Given the description of an element on the screen output the (x, y) to click on. 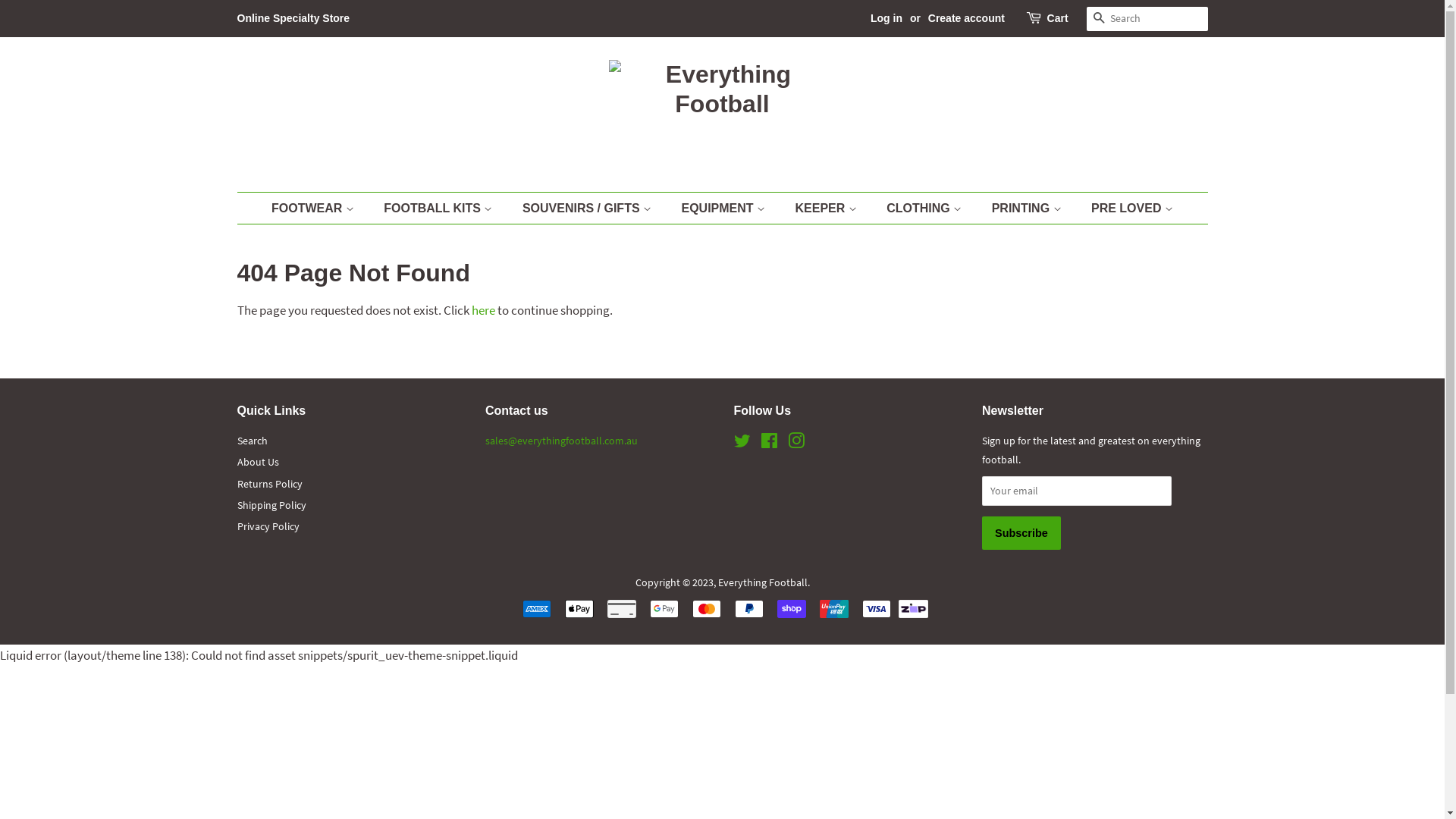
FOOTBALL KITS Element type: text (439, 207)
Facebook Element type: text (768, 443)
Cart Element type: text (1057, 18)
Create account Element type: text (966, 18)
Shipping Policy Element type: text (270, 504)
SOUVENIRS / GIFTS Element type: text (588, 207)
Search Element type: text (1097, 18)
FOOTWEAR Element type: text (320, 207)
KEEPER Element type: text (828, 207)
Log in Element type: text (886, 18)
CLOTHING Element type: text (925, 207)
here Element type: text (483, 309)
PRINTING Element type: text (1028, 207)
Returns Policy Element type: text (268, 483)
Instagram Element type: text (795, 443)
sales@everythingfootball.com.au Element type: text (561, 440)
PRE LOVED Element type: text (1126, 207)
About Us Element type: text (257, 461)
Search Element type: text (251, 440)
Privacy Policy Element type: text (267, 526)
Subscribe Element type: text (1021, 532)
Twitter Element type: text (742, 443)
Online Specialty Store Element type: text (292, 18)
Everything Football Element type: text (761, 582)
EQUIPMENT Element type: text (724, 207)
